Given the description of an element on the screen output the (x, y) to click on. 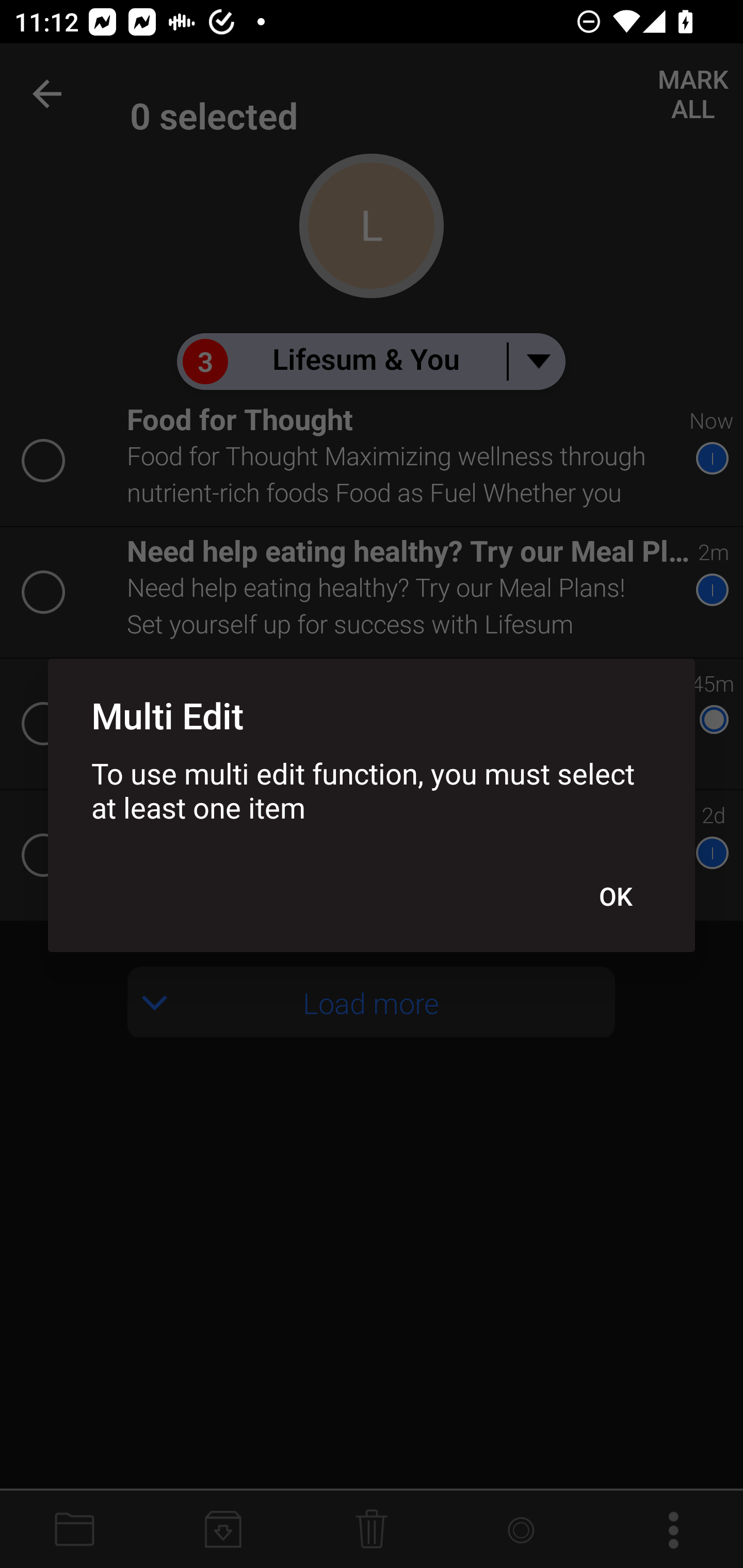
OK (615, 895)
